Given the description of an element on the screen output the (x, y) to click on. 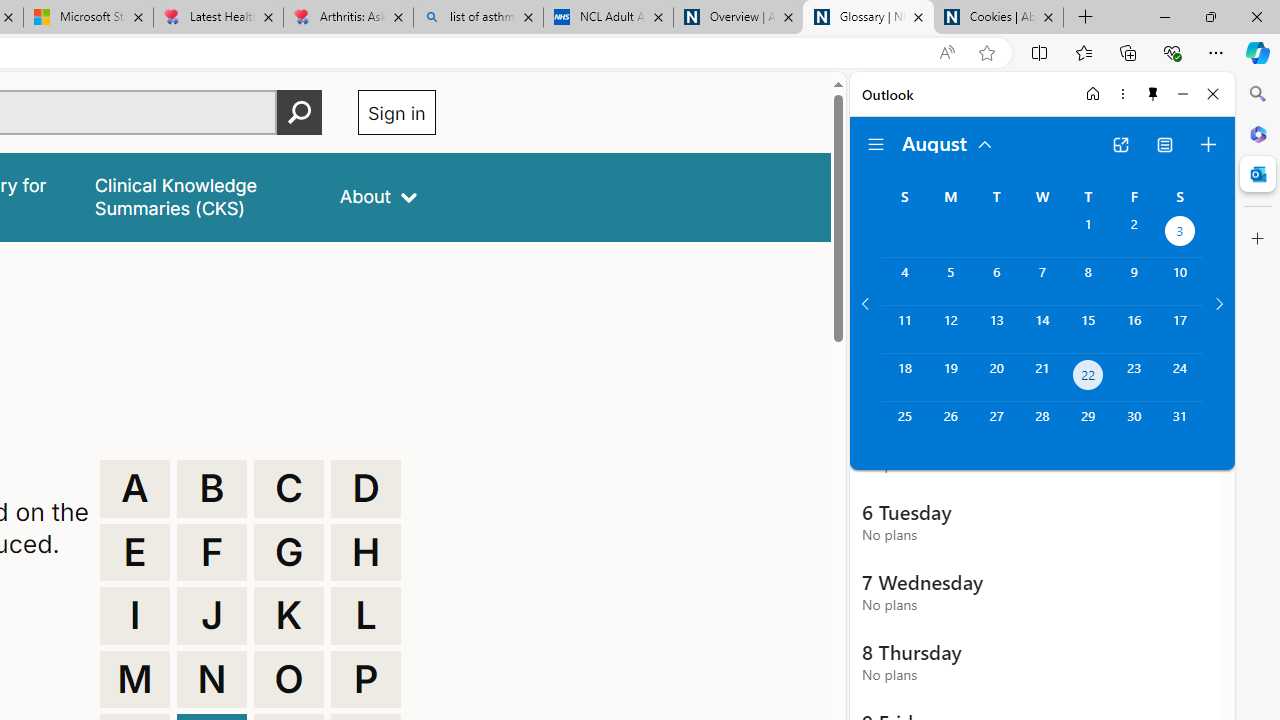
Search (1258, 94)
Tuesday, August 13, 2024.  (996, 329)
K (289, 615)
G (289, 551)
H (365, 551)
Read aloud this page (Ctrl+Shift+U) (946, 53)
Saturday, August 17, 2024.  (1180, 329)
Thursday, August 22, 2024. Today.  (1088, 377)
H (365, 551)
G (289, 551)
About (378, 196)
Unpin side pane (1153, 93)
Home (1093, 93)
J (212, 615)
